Given the description of an element on the screen output the (x, y) to click on. 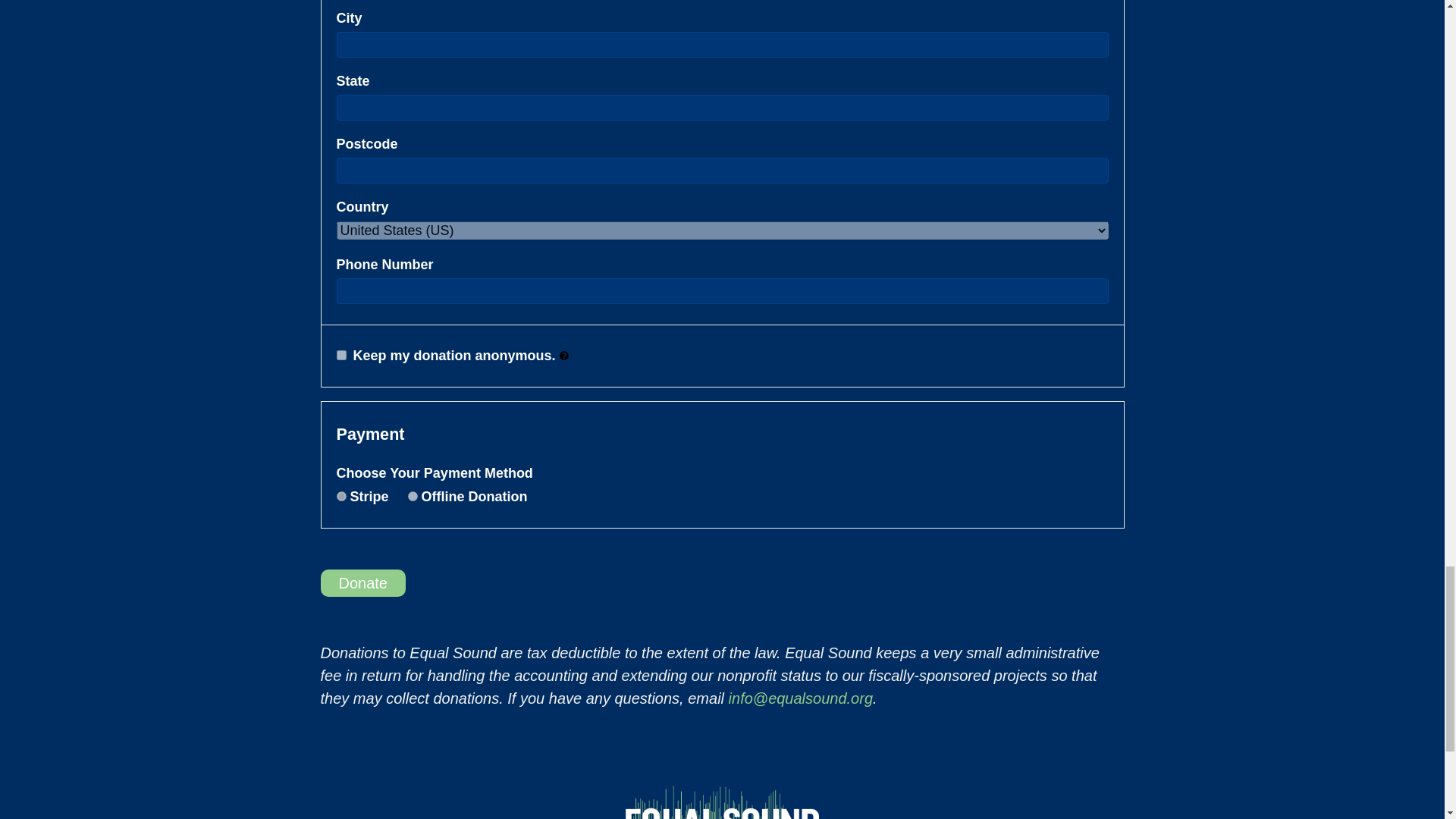
offline (412, 496)
1 (341, 355)
Donate (363, 583)
stripe (341, 496)
